Given the description of an element on the screen output the (x, y) to click on. 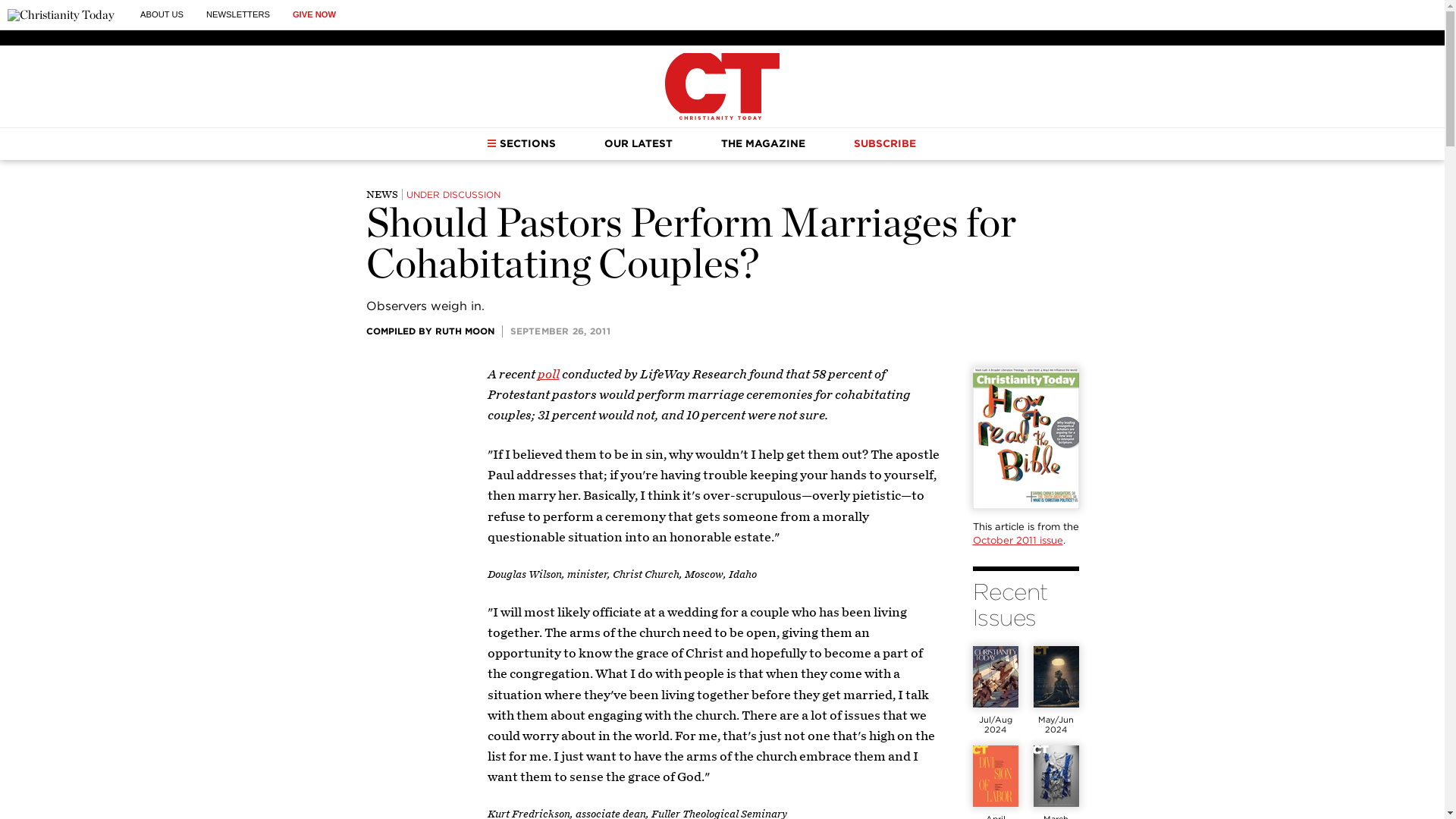
NEWSLETTERS (238, 14)
Christianity Today (61, 15)
ABOUT US (161, 14)
SECTIONS (521, 143)
Christianity Today (721, 86)
GIVE NOW (314, 14)
Sections Dropdown (491, 143)
